Given the description of an element on the screen output the (x, y) to click on. 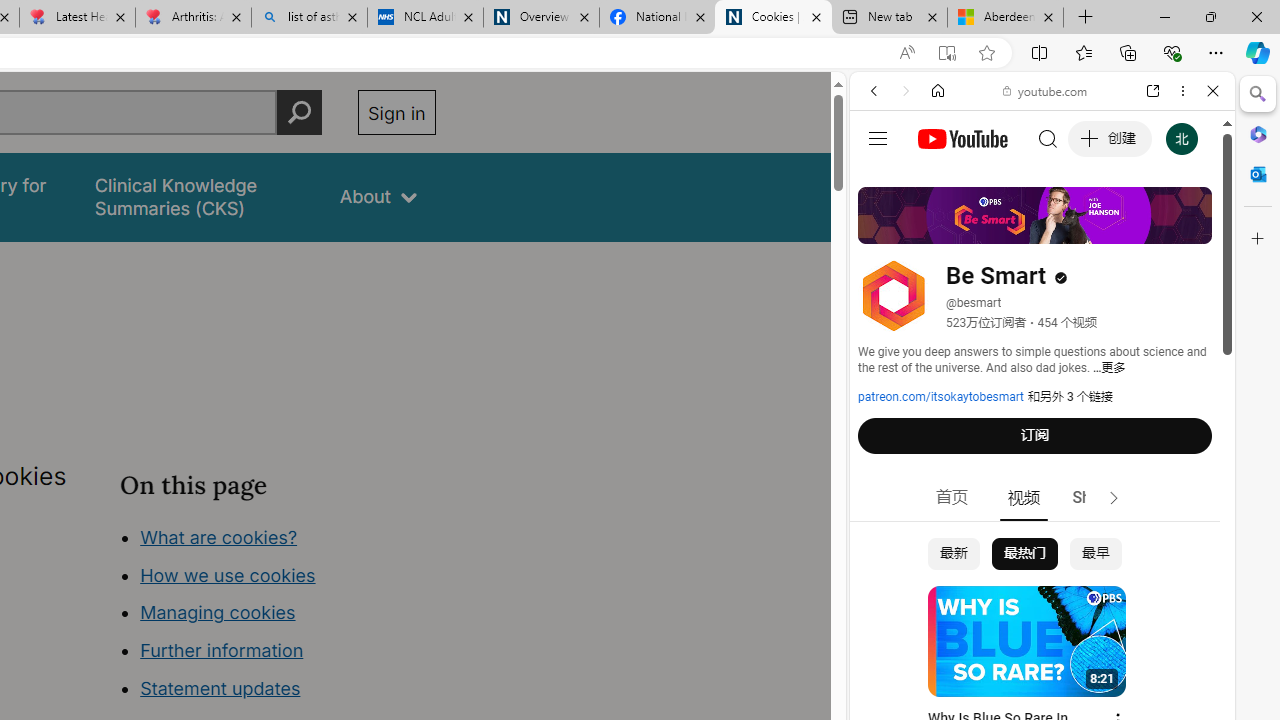
Further information (221, 650)
Aberdeen, Hong Kong SAR hourly forecast | Microsoft Weather (1005, 17)
Shorts (1096, 497)
Trailer #2 [HD] (1042, 592)
